Given the description of an element on the screen output the (x, y) to click on. 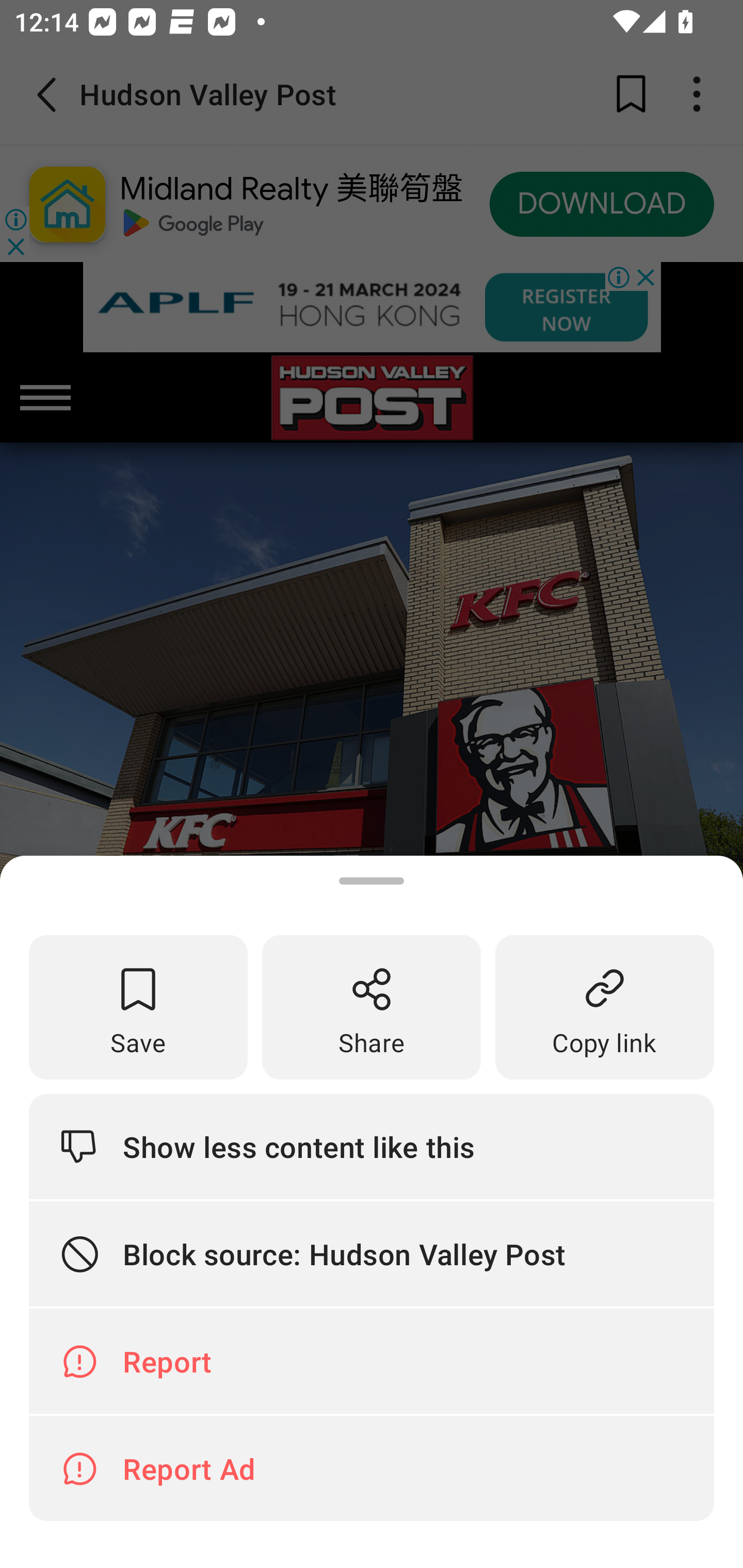
Save (137, 1006)
Share (371, 1006)
Copy link (604, 1006)
Show less content like this (371, 1146)
Block source: Hudson Valley Post (371, 1253)
Report (371, 1361)
Report Ad (371, 1467)
